Given the description of an element on the screen output the (x, y) to click on. 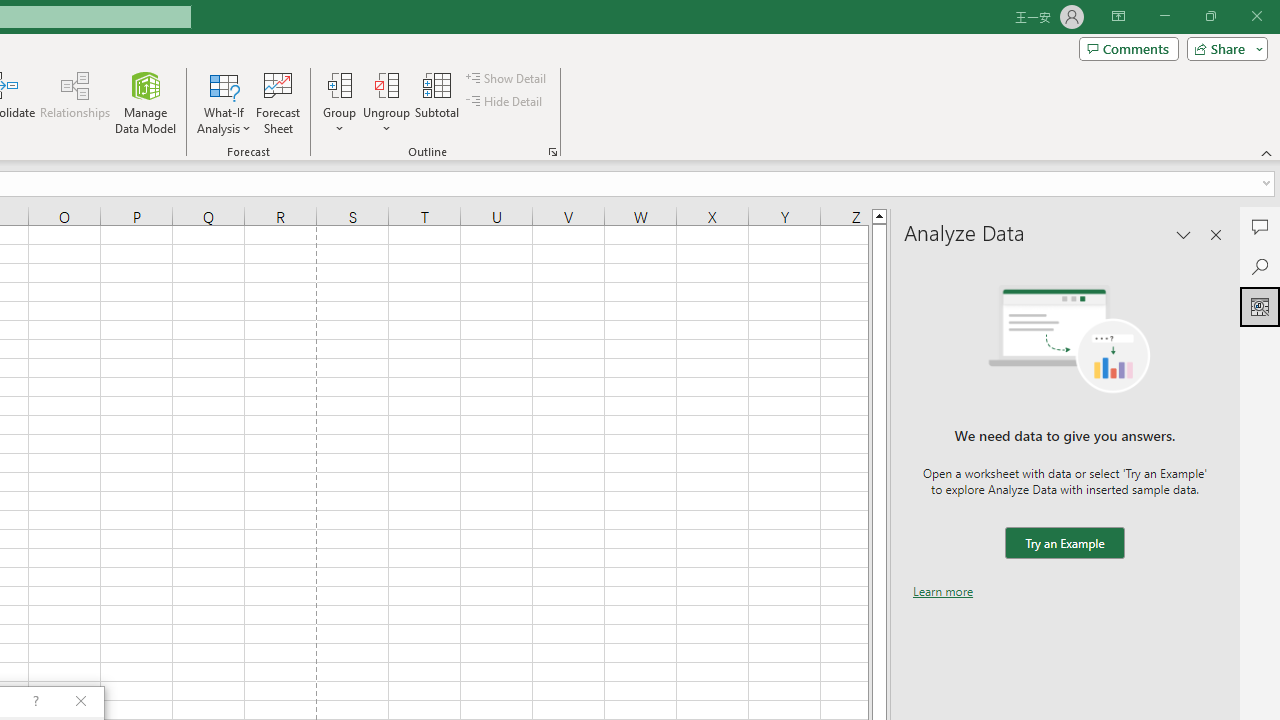
Ungroup... (386, 84)
Group... (339, 102)
Show Detail (507, 78)
Comments (1260, 226)
Group and Outline Settings (552, 151)
Close (1256, 16)
Ribbon Display Options (1118, 16)
Subtotal (437, 102)
Hide Detail (505, 101)
Analyze Data (1260, 306)
Close pane (1215, 234)
Forecast Sheet (278, 102)
More Options (386, 121)
Comments (1128, 48)
Relationships (75, 102)
